Given the description of an element on the screen output the (x, y) to click on. 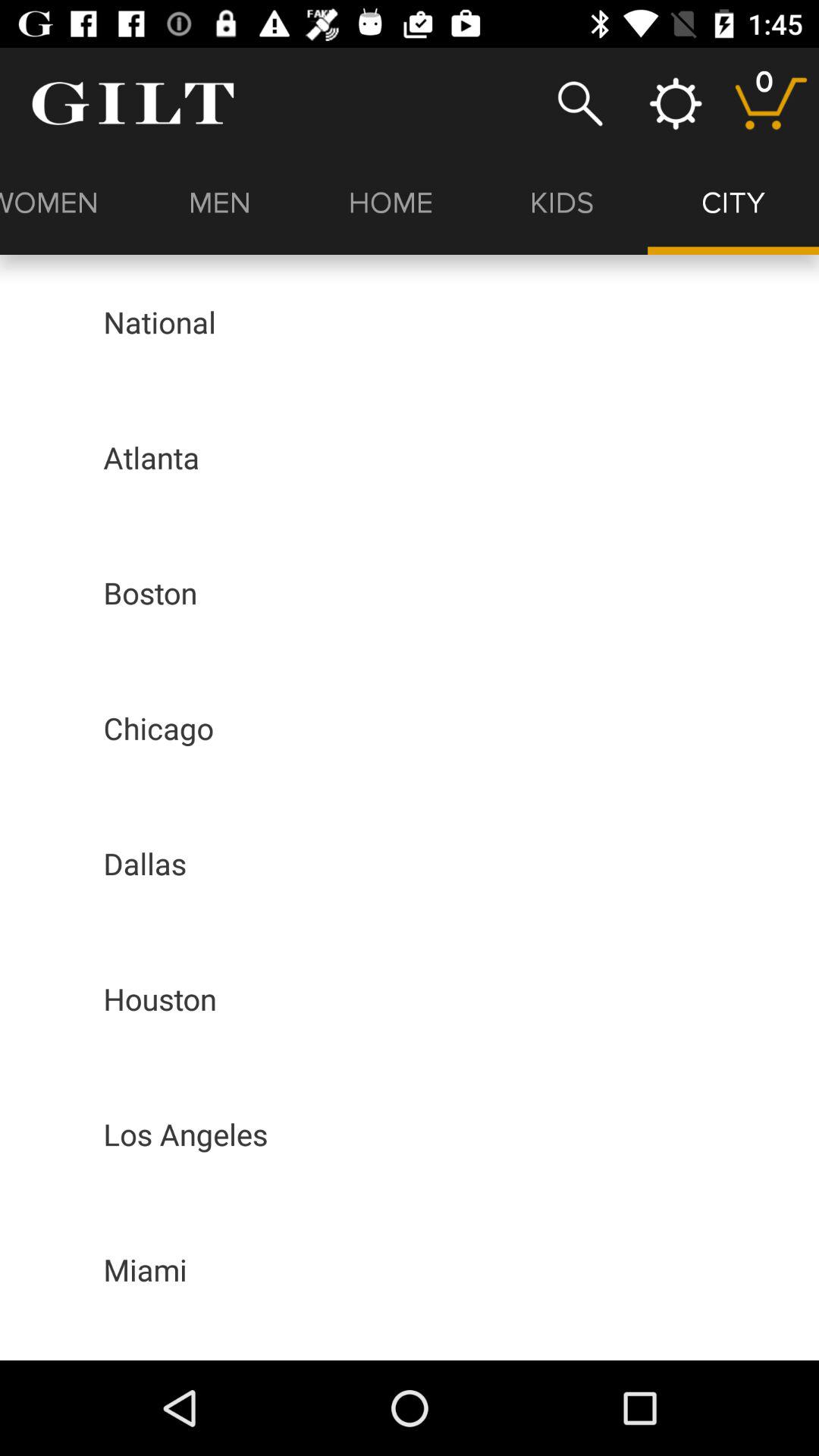
tap los angeles item (185, 1134)
